Given the description of an element on the screen output the (x, y) to click on. 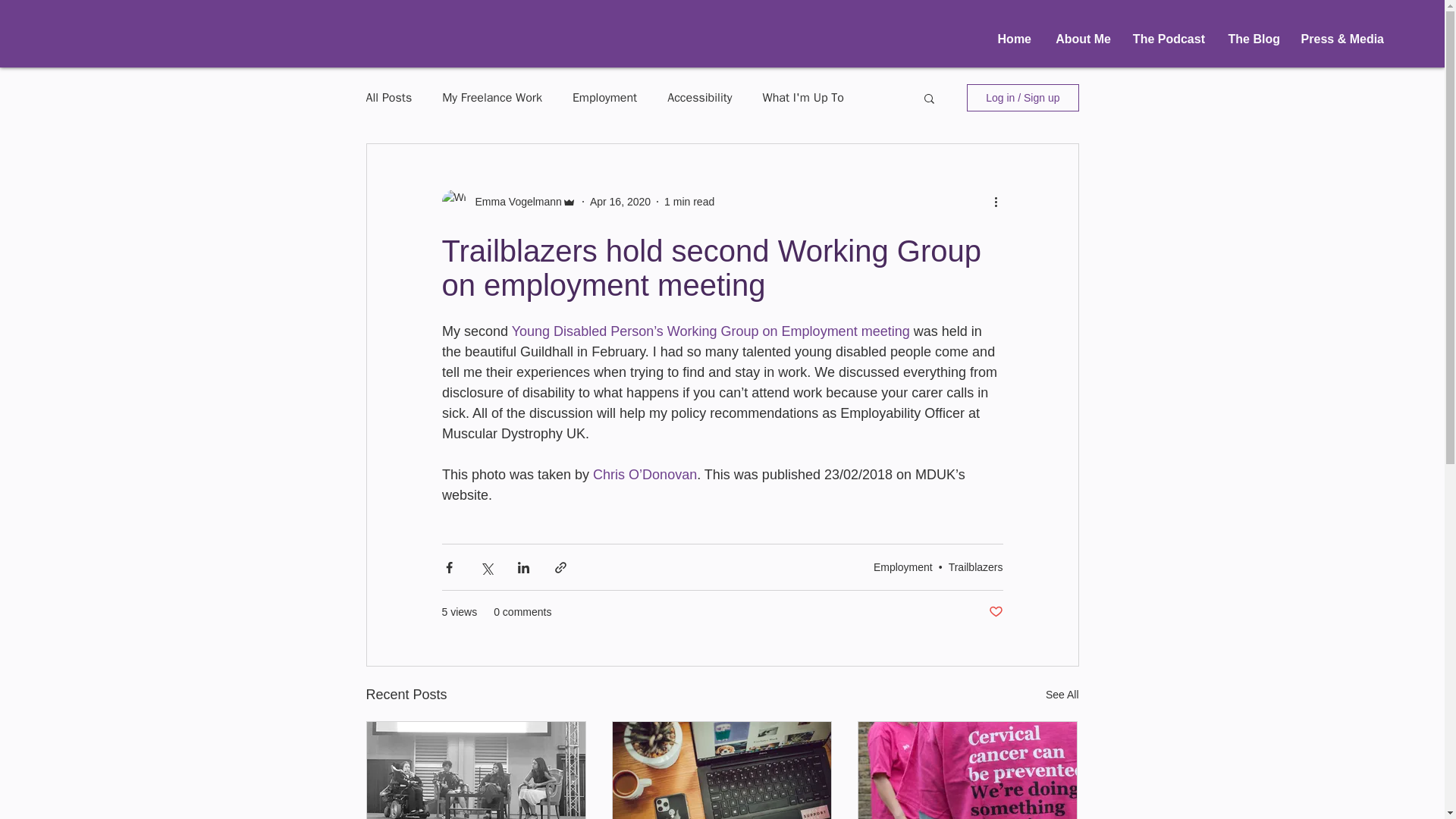
My Freelance Work (491, 97)
Apr 16, 2020 (619, 201)
Employment (903, 567)
Home (1008, 39)
1 min read (688, 201)
See All (1061, 694)
All Posts (388, 97)
Trailblazers (976, 567)
Employment (604, 97)
The Blog (1249, 39)
About Me (1078, 39)
What I'm Up To (803, 97)
The Podcast (1165, 39)
Accessibility (699, 97)
Emma Vogelmann (512, 201)
